Given the description of an element on the screen output the (x, y) to click on. 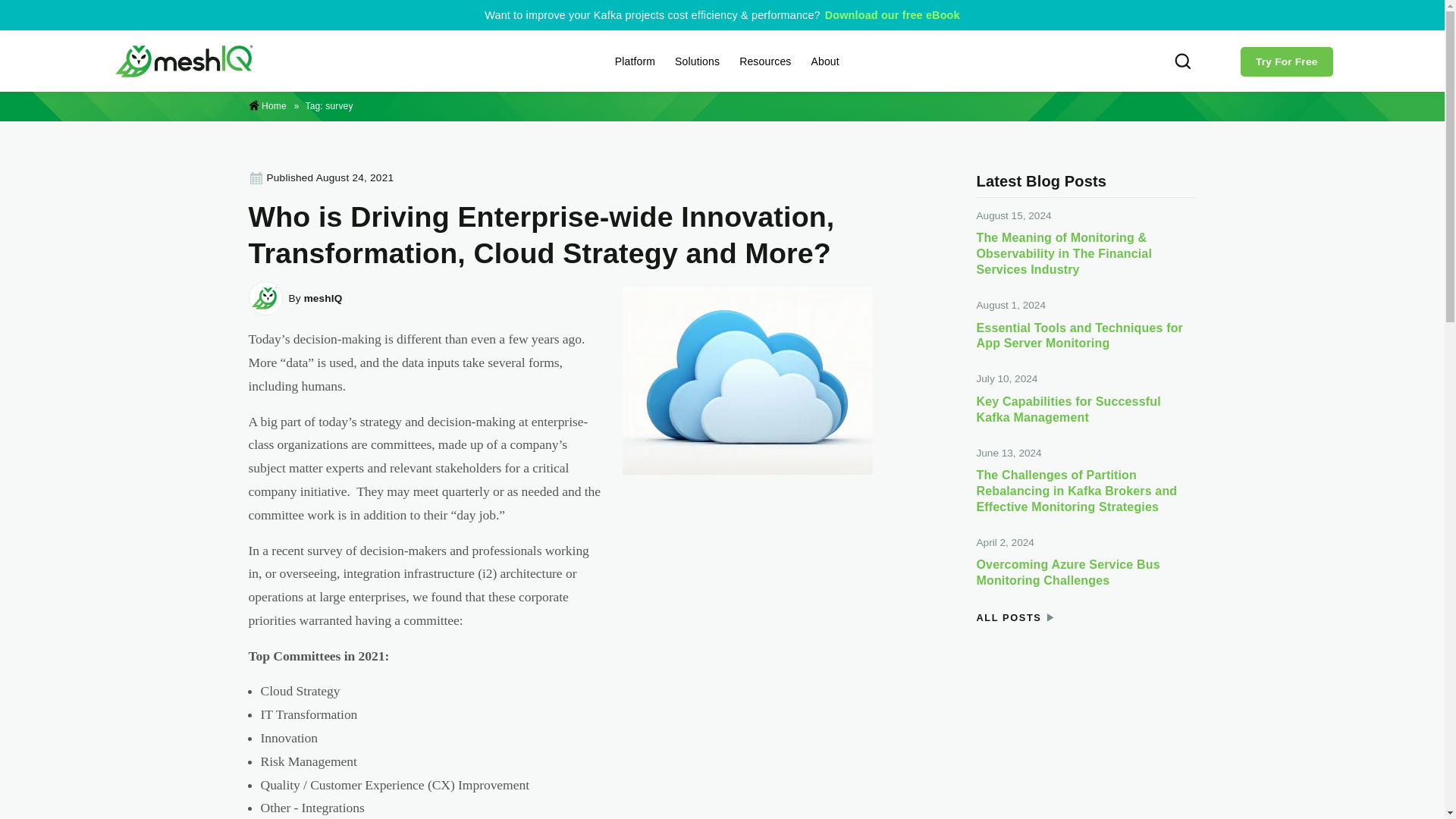
Read this post (541, 235)
Read all blogs (1009, 618)
Key Capabilities for Successful Kafka Management (1086, 409)
Try meshIQ Kafka Console For Free (1286, 61)
Platform (636, 60)
meshIQ (274, 105)
Solutions (699, 60)
Download our free eBook (892, 14)
